Given the description of an element on the screen output the (x, y) to click on. 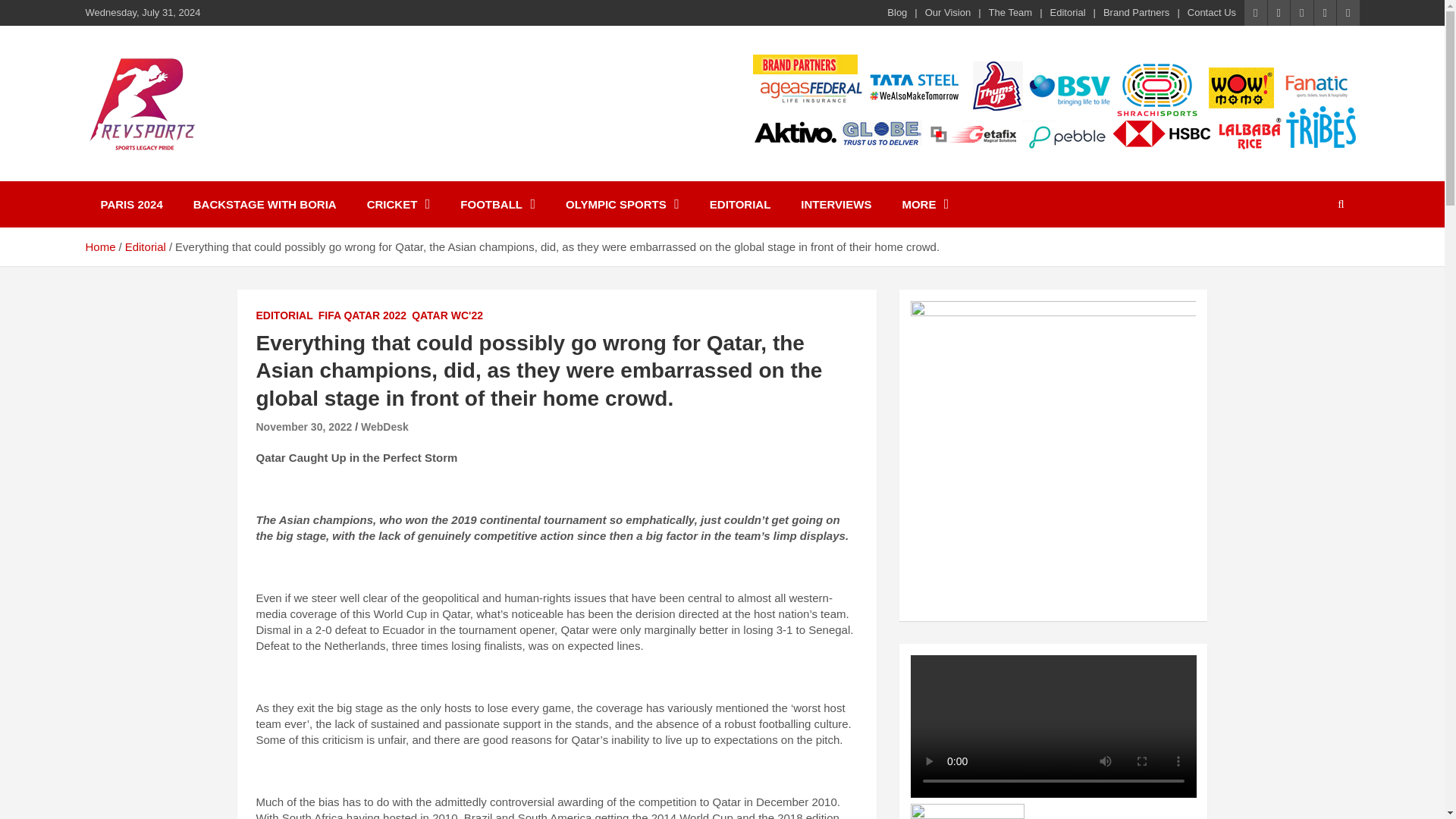
FOOTBALL (497, 203)
Our Vision (947, 12)
PARIS 2024 (130, 203)
Blog (896, 12)
The Team (1010, 12)
CRICKET (398, 203)
Contact Us (1212, 12)
Brand Partners (1136, 12)
OLYMPIC SPORTS (622, 203)
BACKSTAGE WITH BORIA (264, 203)
Editorial (1067, 12)
